Given the description of an element on the screen output the (x, y) to click on. 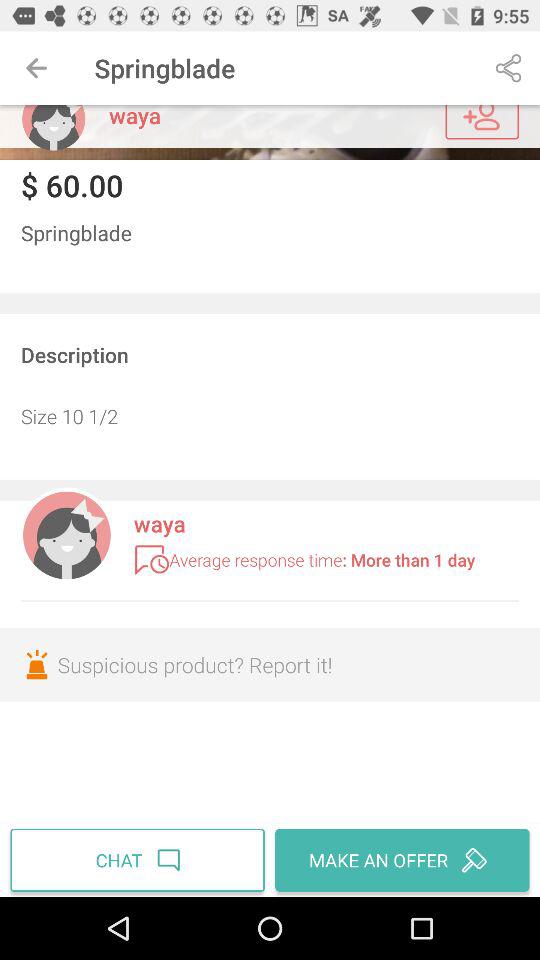
turn off the icon above $ 60.00 (270, 132)
